Given the description of an element on the screen output the (x, y) to click on. 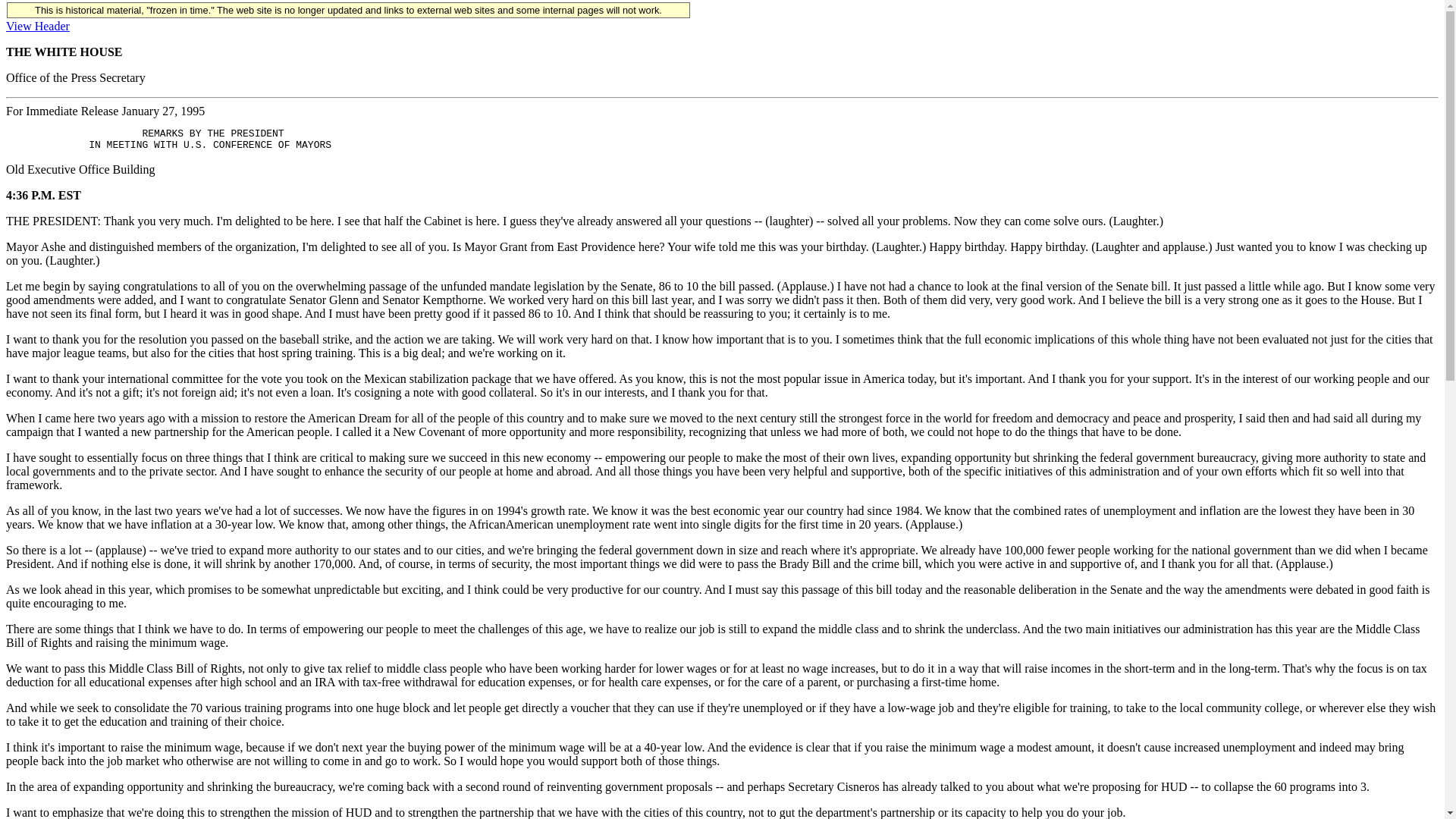
View Header (37, 25)
